Given the description of an element on the screen output the (x, y) to click on. 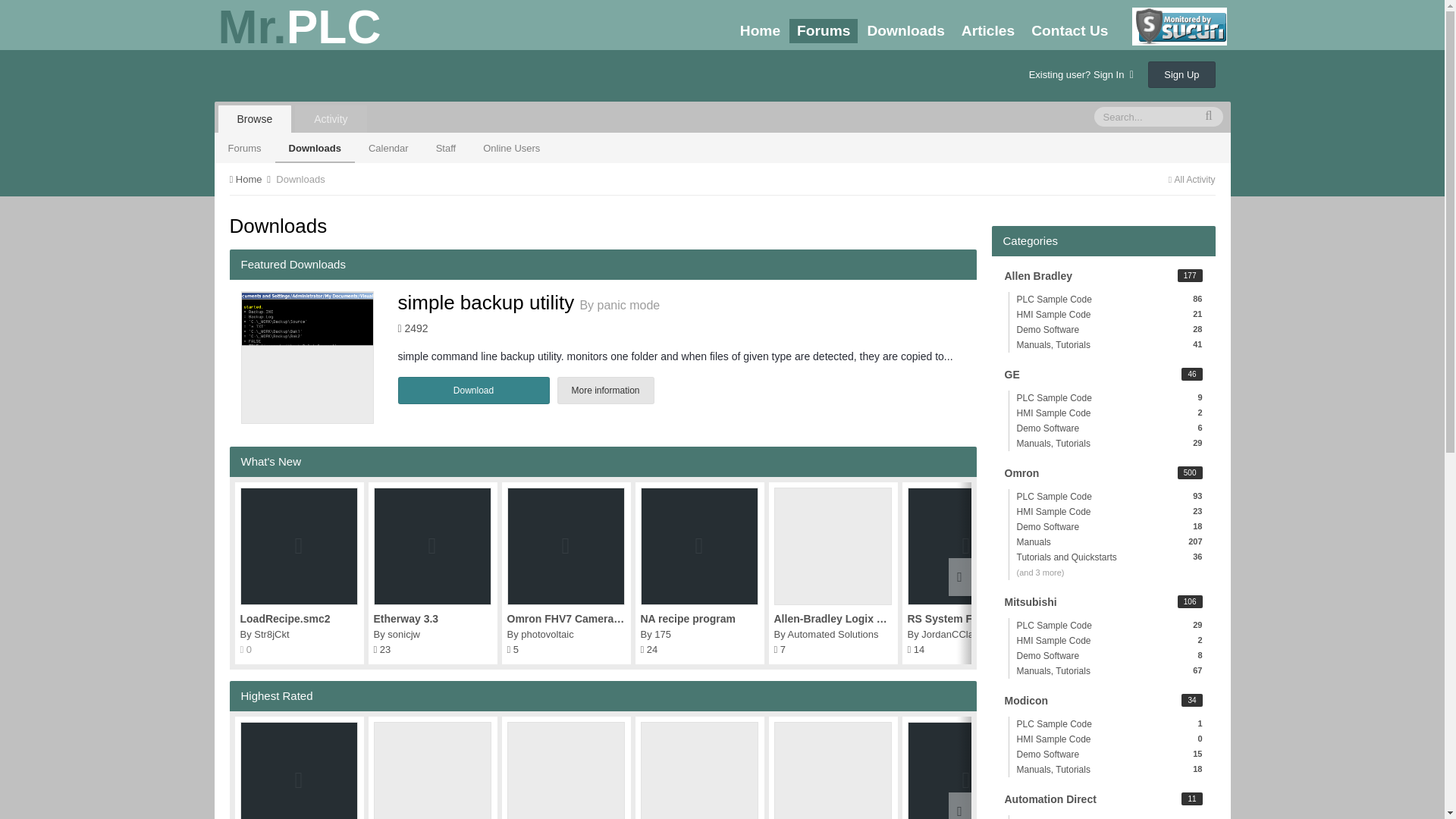
Forums (244, 147)
Sign Up (1181, 74)
Calendar (388, 147)
Downloads (315, 147)
Downloads (512, 649)
Go to sonicjw's profile (403, 633)
More information about "simple backup utility" (307, 357)
Downloads (381, 649)
Staff (446, 147)
Existing user? Sign In   (1081, 74)
